Given the description of an element on the screen output the (x, y) to click on. 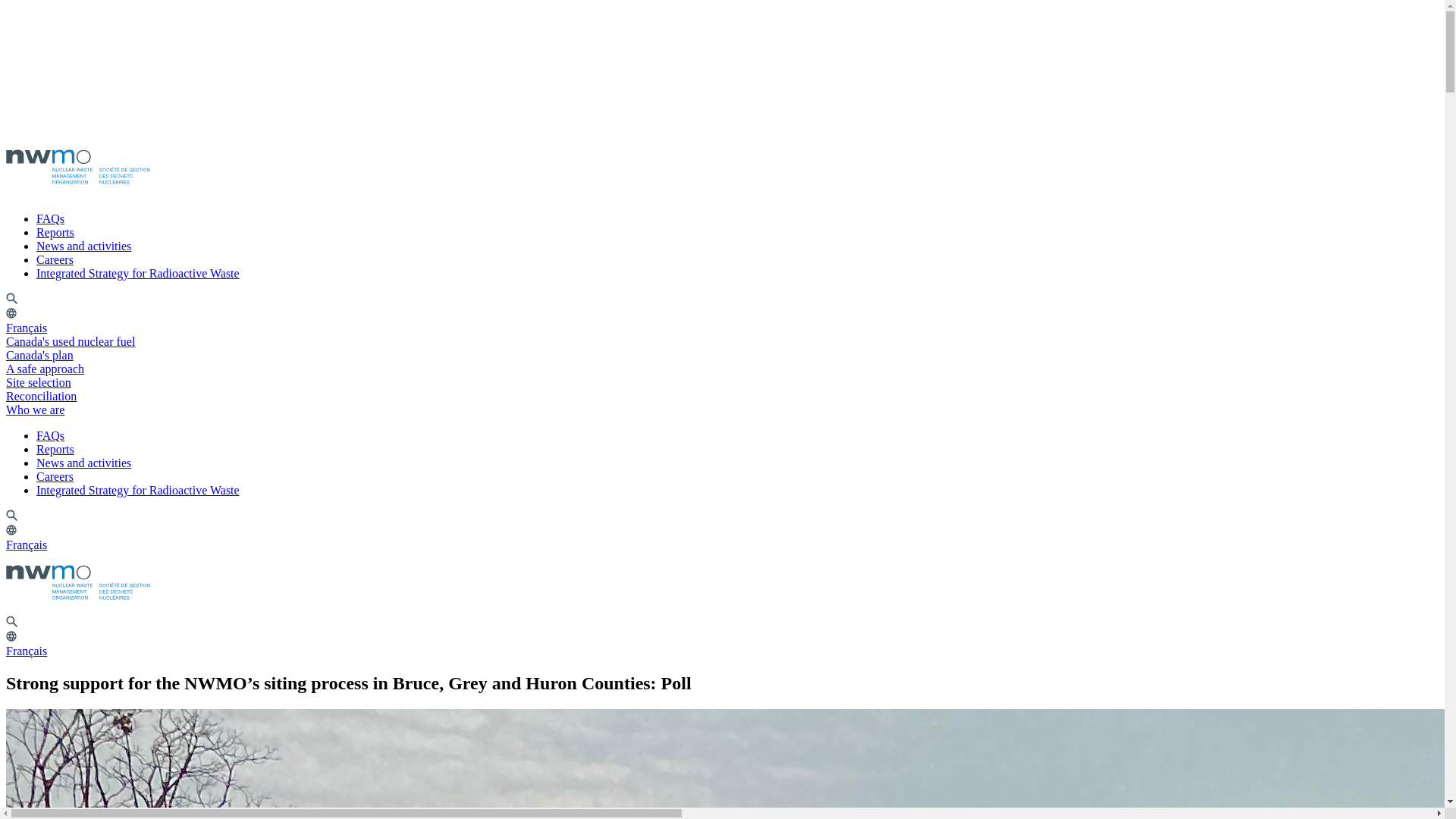
Careers (55, 259)
NWMO Logo (77, 582)
News and activities (83, 245)
Reports (55, 232)
News and activities (83, 462)
Who we are (40, 409)
NWMO Logo (77, 166)
Reconciliation (46, 395)
Integrated Strategy for Radioactive Waste (138, 273)
Canada's used nuclear fuel (75, 341)
FAQs (50, 218)
Reports (55, 449)
FAQs (50, 435)
Careers (55, 476)
A safe approach (49, 368)
